Given the description of an element on the screen output the (x, y) to click on. 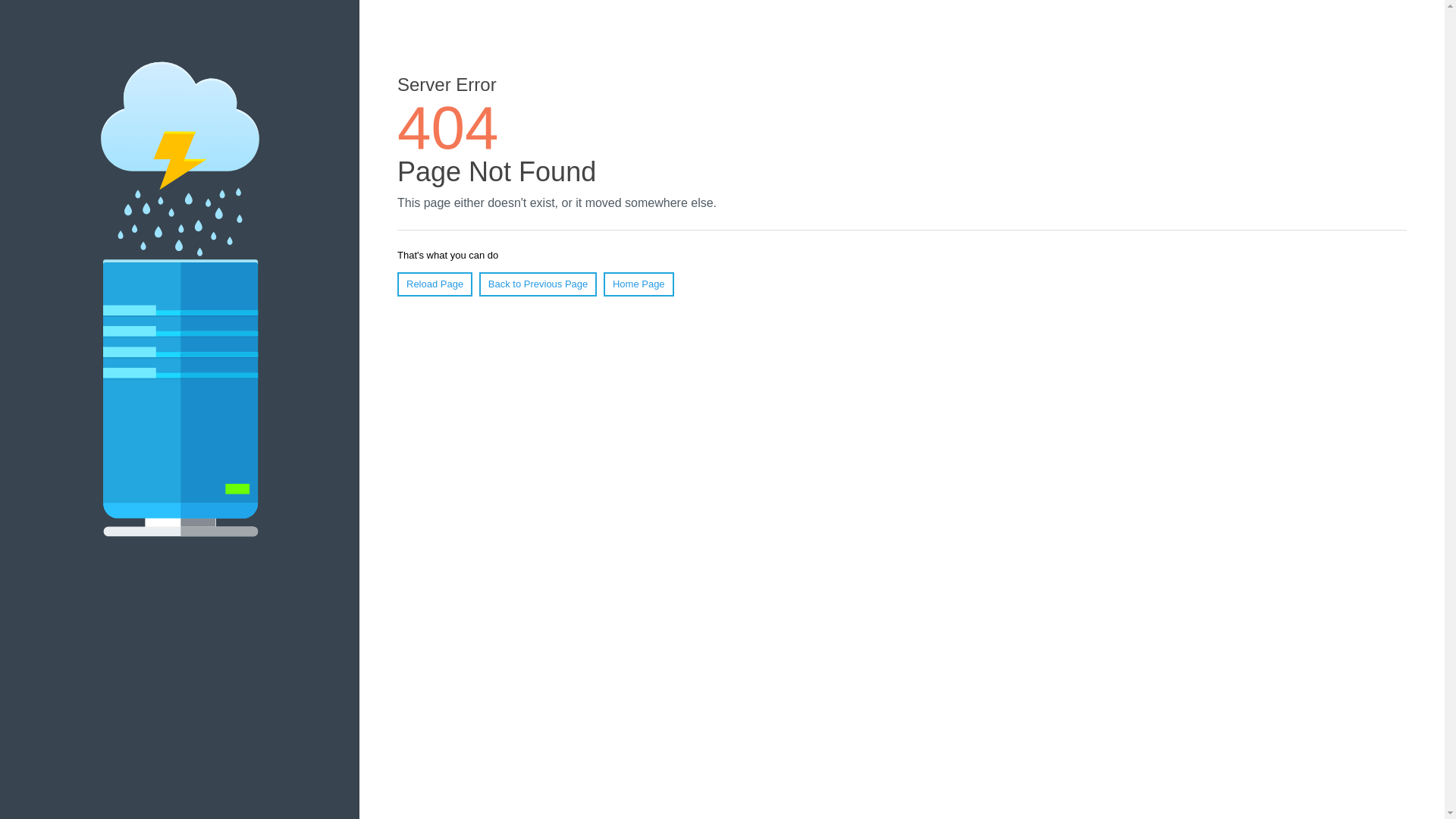
Reload Page Element type: text (434, 284)
Home Page Element type: text (638, 284)
Back to Previous Page Element type: text (538, 284)
